Given the description of an element on the screen output the (x, y) to click on. 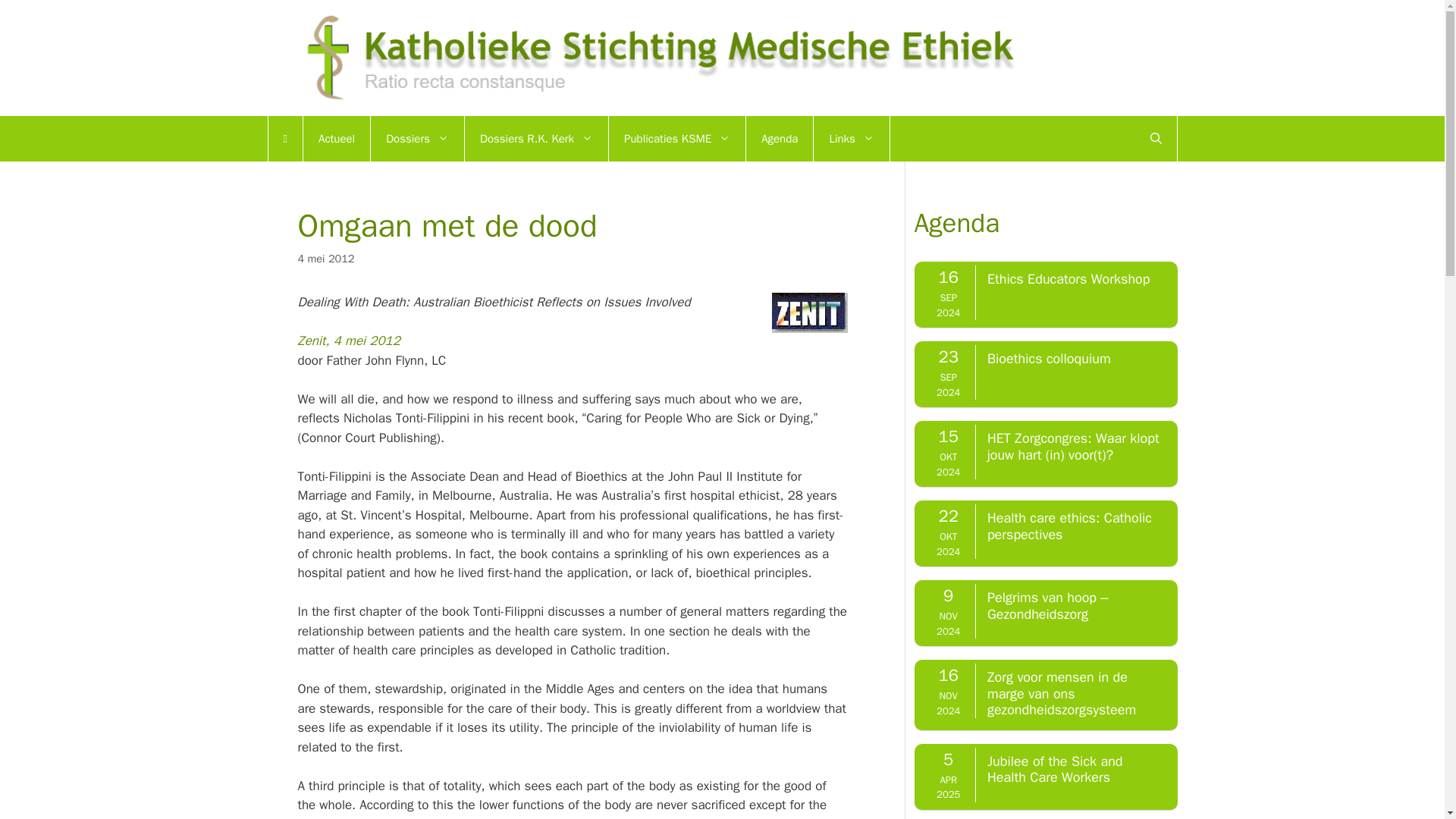
Links (850, 138)
Publicaties KSME (676, 138)
Agenda (778, 138)
Actueel (335, 138)
Dossiers R.K. Kerk (536, 138)
Dossiers (416, 138)
